Given the description of an element on the screen output the (x, y) to click on. 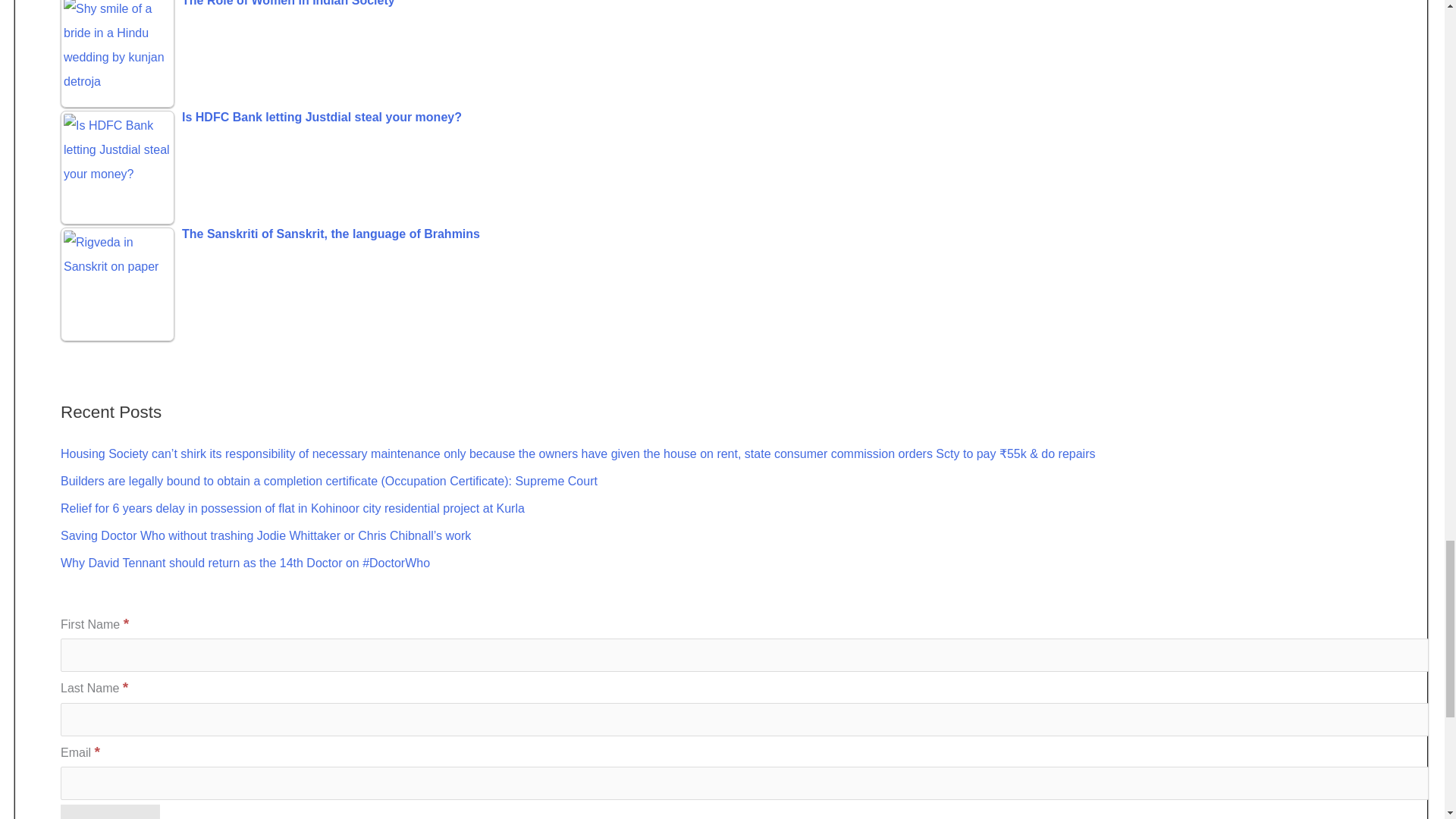
Subscribe (110, 811)
Is HDFC Bank letting Justdial steal your money? (744, 118)
